Given the description of an element on the screen output the (x, y) to click on. 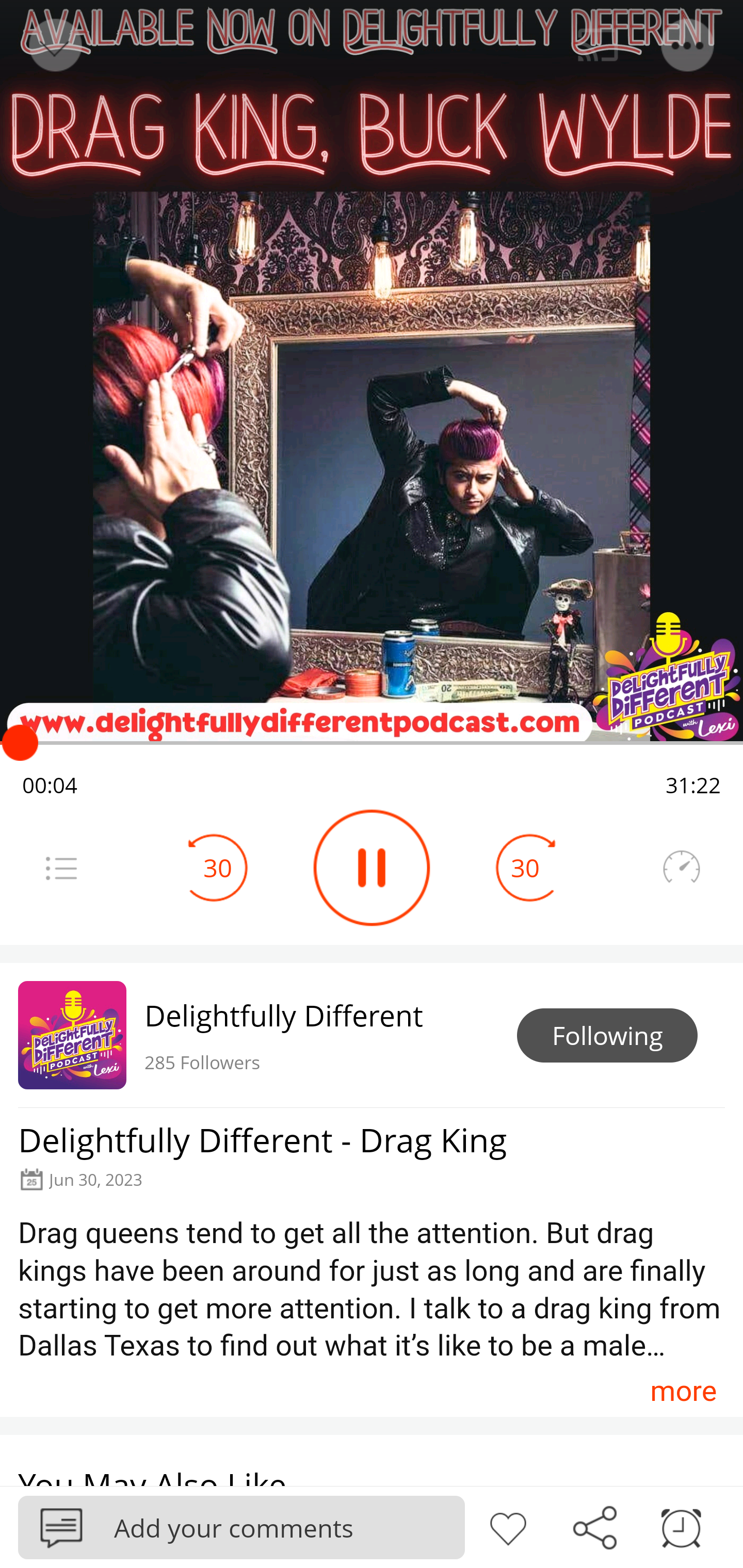
Back (53, 45)
Cast. Disconnected (597, 45)
Menu (688, 45)
Play (371, 867)
30 Seek Backward (217, 867)
30 Seek Forward (525, 867)
Menu (60, 867)
Speedometer (681, 867)
Delightfully Different 285 Followers Following (371, 1034)
Following (607, 1035)
more (682, 1390)
Like (508, 1526)
Share (594, 1526)
Sleep timer (681, 1526)
Podbean Add your comments (241, 1526)
